Given the description of an element on the screen output the (x, y) to click on. 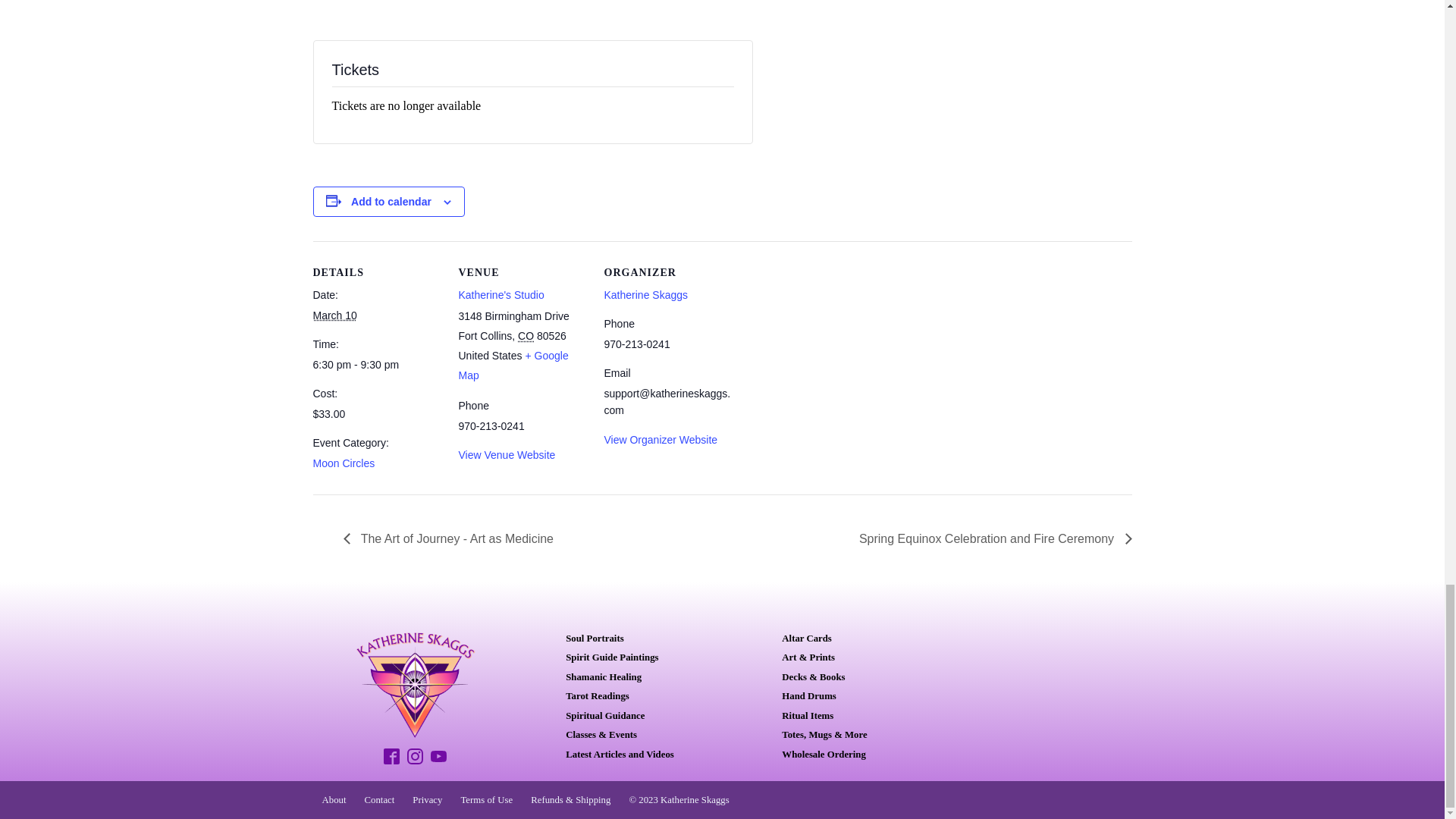
Katherine Skaggs (645, 295)
Click to view a Google Map (512, 365)
Colorado (526, 336)
2024-03-10 (376, 364)
2024-03-10 (334, 315)
